Given the description of an element on the screen output the (x, y) to click on. 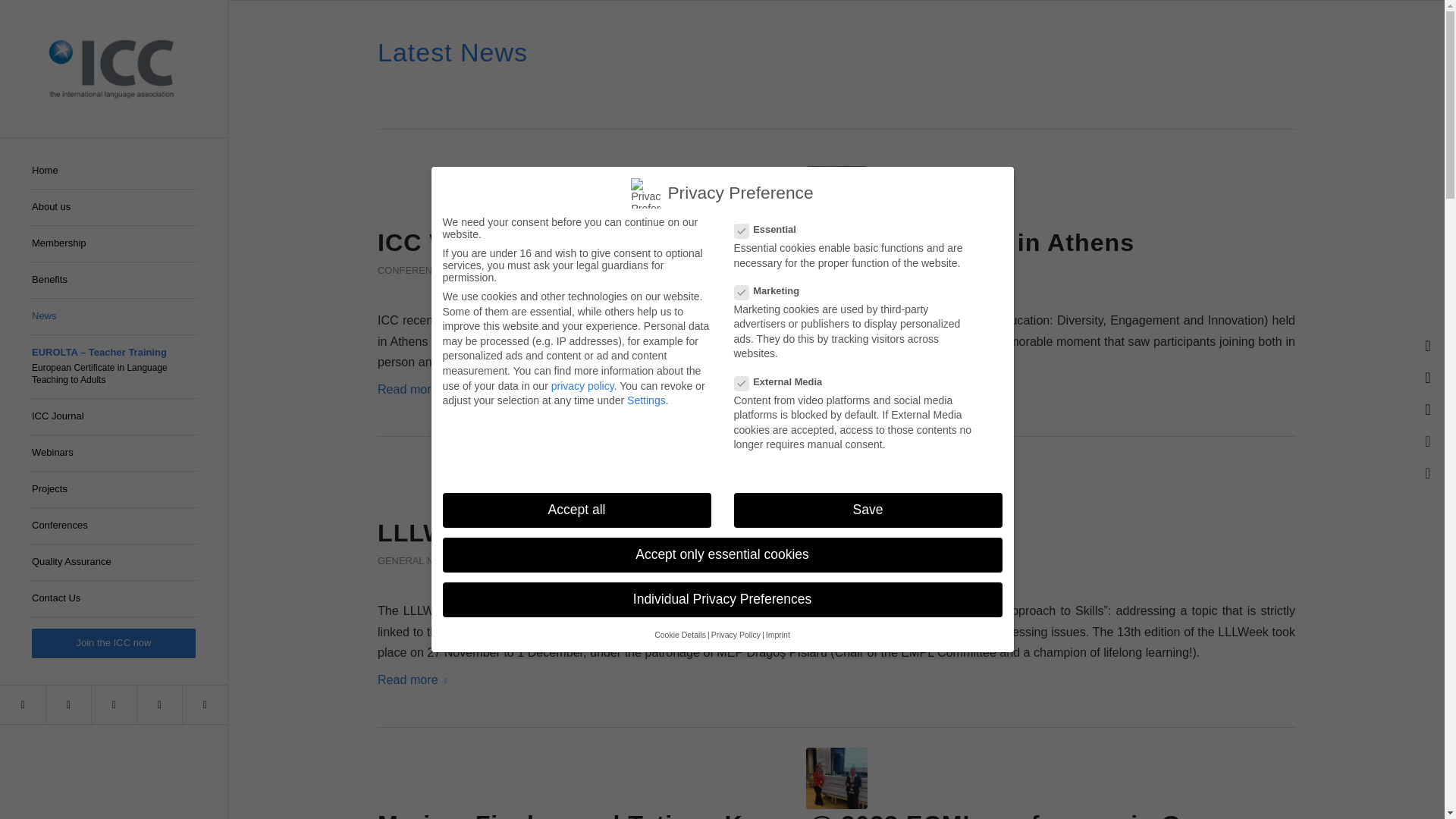
Home (113, 171)
X (113, 704)
LinkedIn (159, 704)
ICC Journal (113, 416)
News (113, 316)
Webinars (113, 452)
Facebook (22, 704)
Projects (113, 489)
About us (113, 207)
Conferences (113, 525)
Instagram (67, 704)
Benefits (113, 280)
Membership (113, 244)
